Given the description of an element on the screen output the (x, y) to click on. 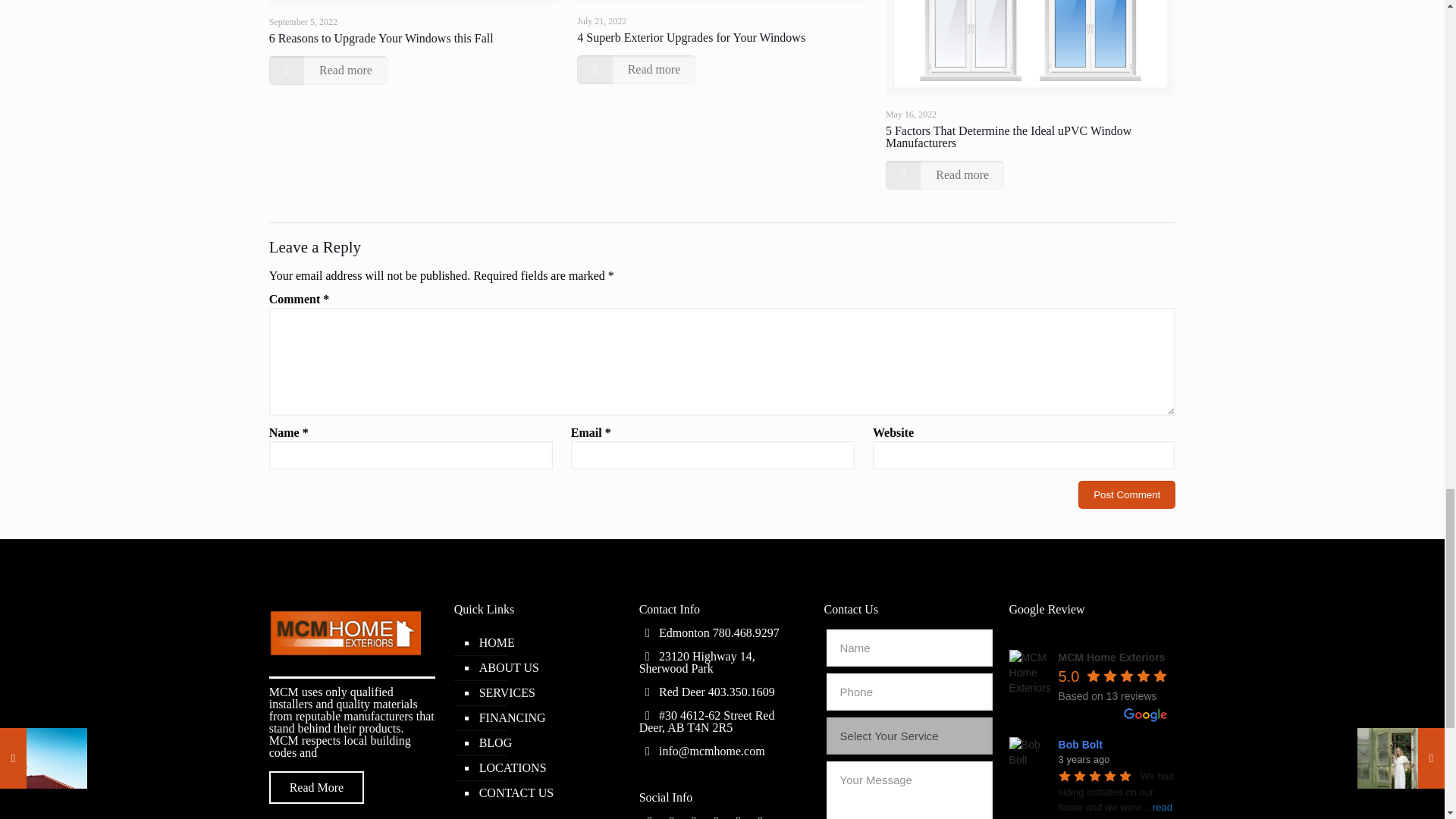
Post Comment (1126, 494)
